Given the description of an element on the screen output the (x, y) to click on. 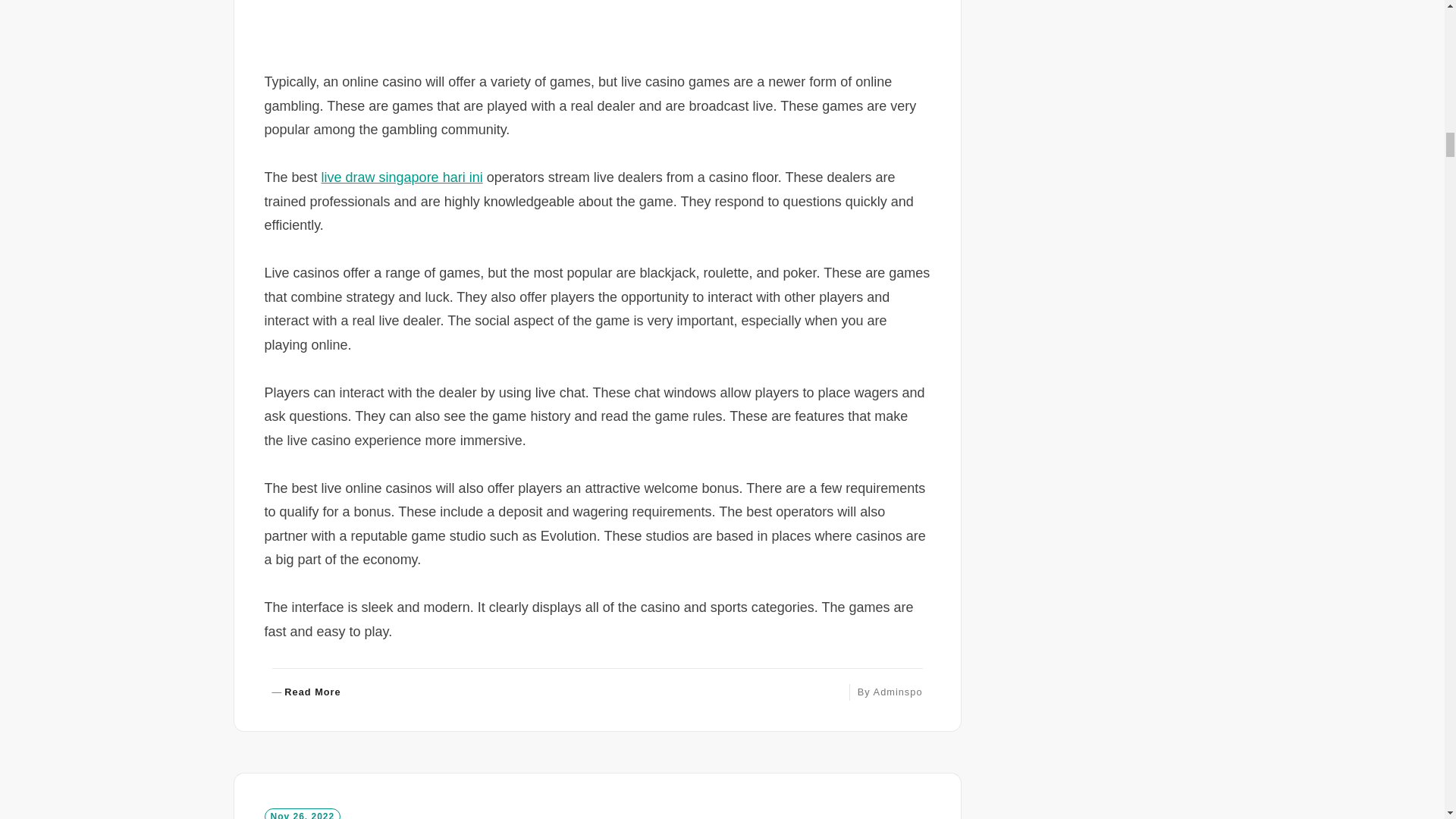
live draw singapore hari ini (402, 177)
Adminspo (898, 691)
Nov 26, 2022 (305, 692)
